Given the description of an element on the screen output the (x, y) to click on. 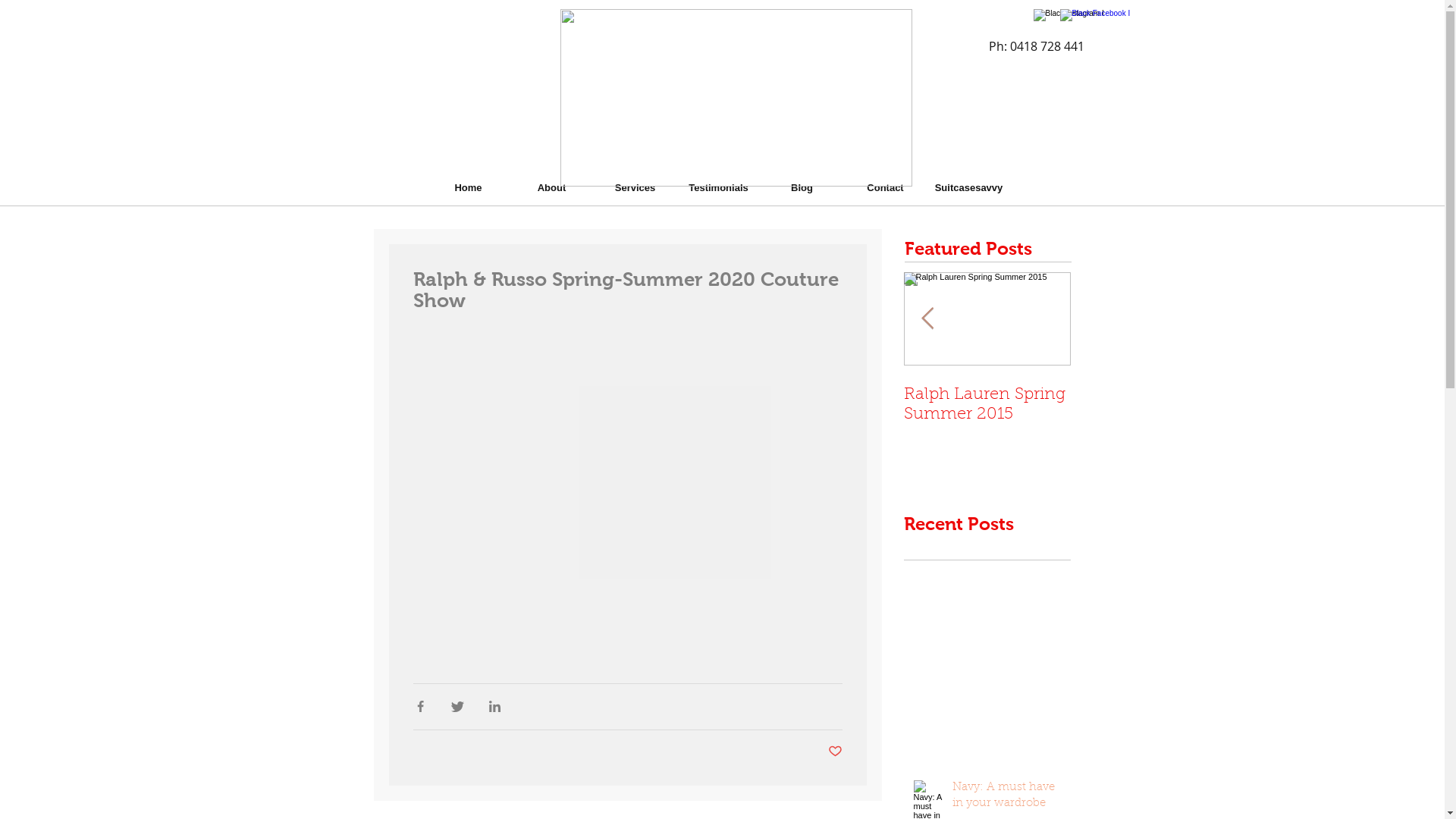
Navy: A must have in your wardrobe Element type: text (1006, 798)
Contact Element type: text (884, 180)
Ralph Lauren Spring Summer 2015 Element type: text (986, 404)
Carla Zampatti My Life, My look Element type: text (820, 404)
Services Element type: text (634, 180)
Post not marked as liked Element type: text (835, 752)
Blog Element type: text (801, 180)
Suitcasesavvy Element type: text (968, 180)
Home Element type: text (467, 180)
About Element type: text (551, 180)
Testimonials Element type: text (717, 180)
